Given the description of an element on the screen output the (x, y) to click on. 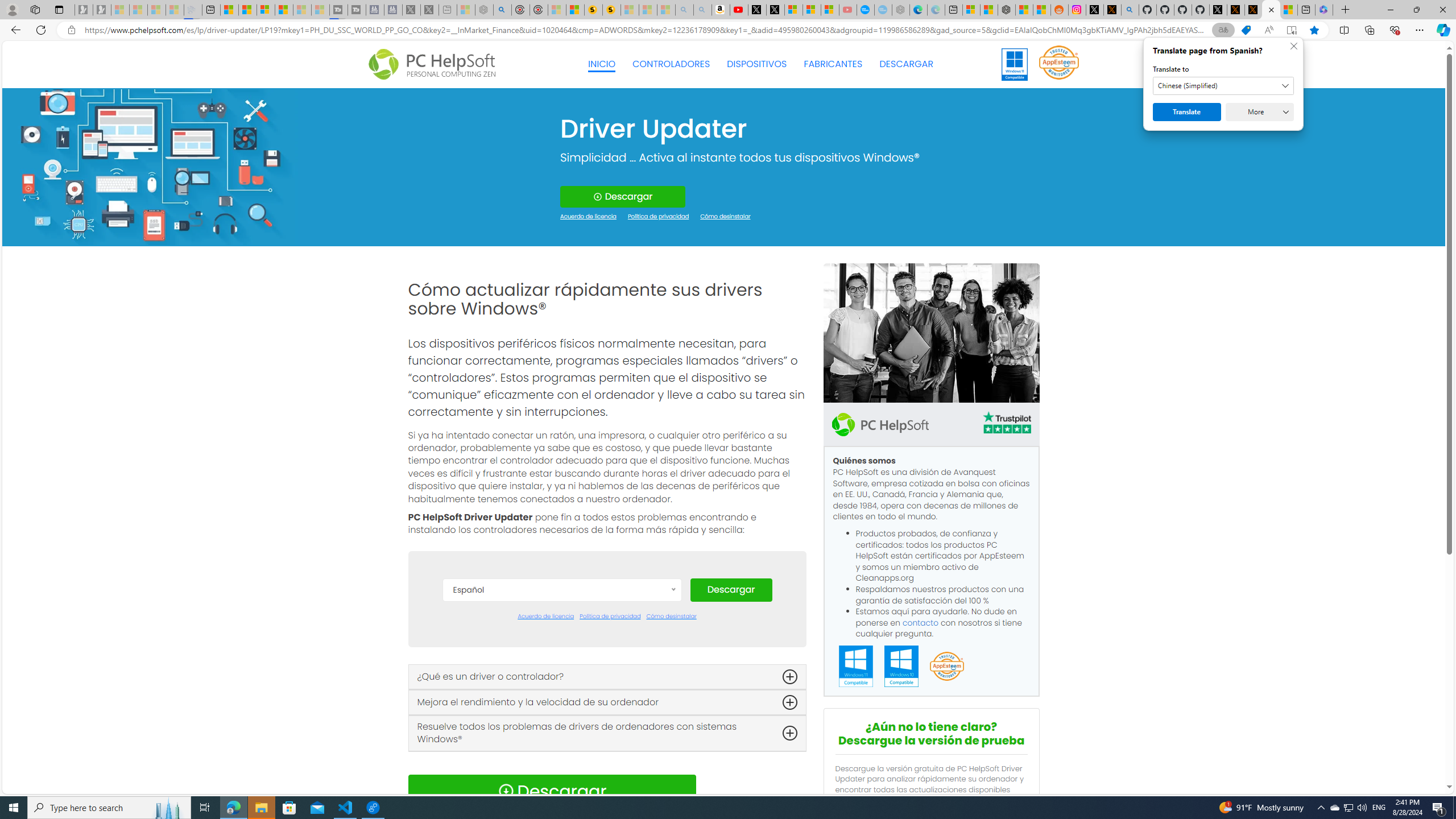
Shopping in Microsoft Edge (1245, 29)
amazon - Search - Sleeping (684, 9)
TrustPilot (1006, 424)
X Privacy Policy (1253, 9)
Translate to (1223, 85)
Logo Personal Computing (435, 64)
help.x.com | 524: A timeout occurred (1112, 9)
